Given the description of an element on the screen output the (x, y) to click on. 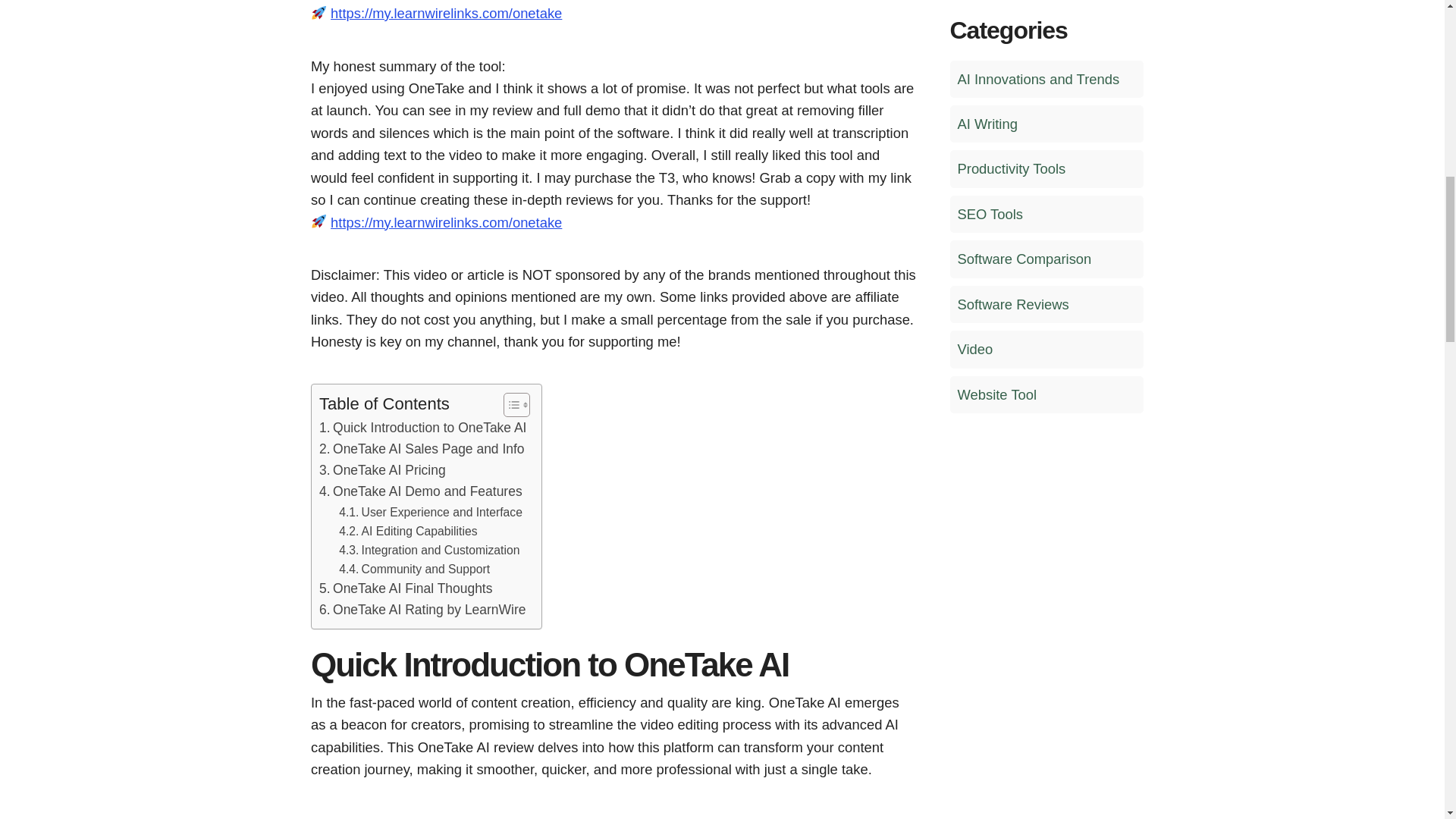
User Experience and Interface (430, 511)
OneTake AI Rating by LearnWire (421, 609)
AI Editing Capabilities (408, 530)
OneTake AI Pricing (381, 470)
Community and Support (414, 568)
OneTake AI Demo and Features (420, 491)
OneTake AI Pricing (381, 470)
Integration and Customization (429, 549)
Integration and Customization (429, 549)
OneTake AI Rating by LearnWire (421, 609)
